Given the description of an element on the screen output the (x, y) to click on. 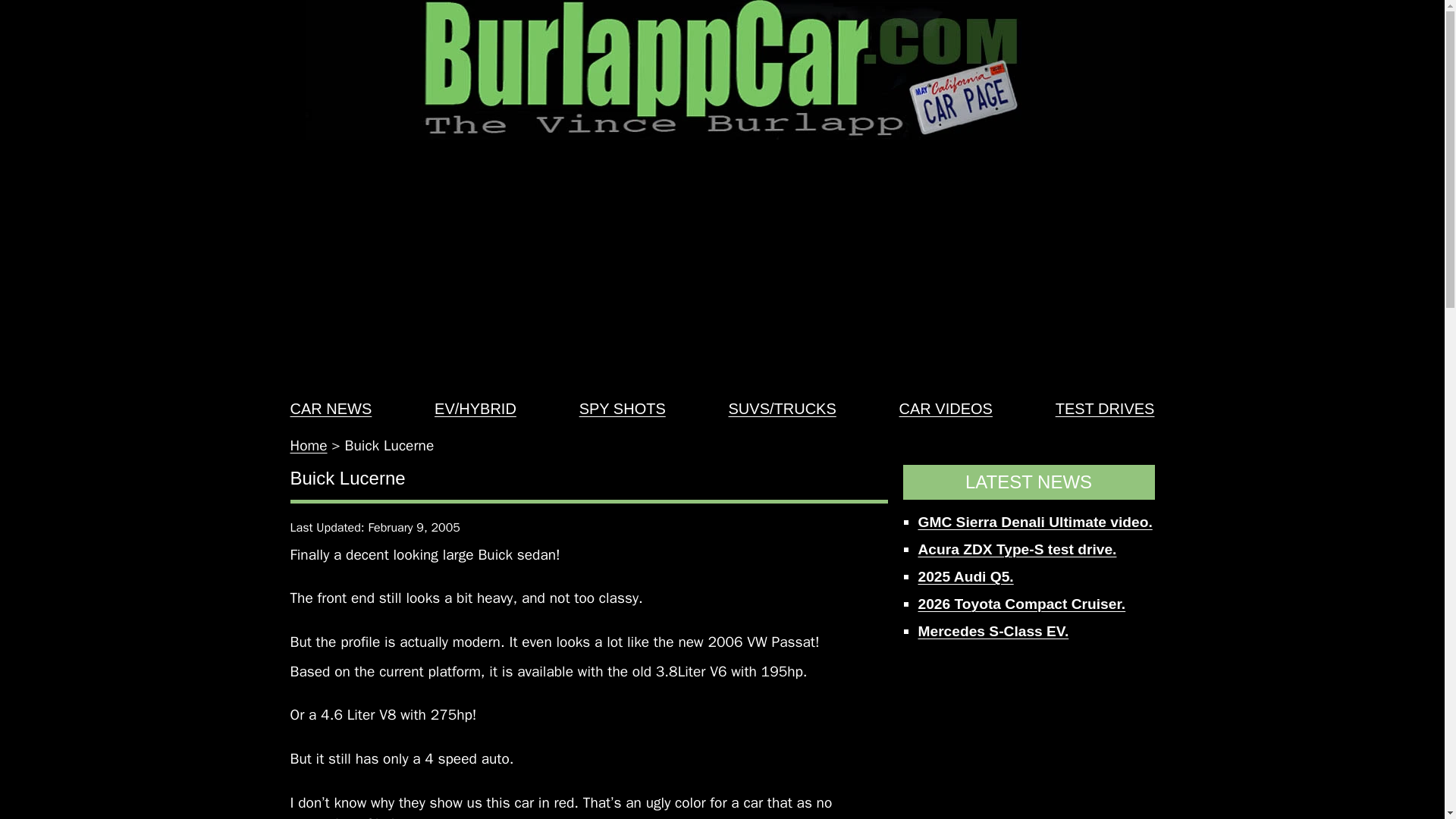
2025 Audi Q5. (965, 576)
Mercedes S-Class EV. (992, 631)
2026 Toyota Compact Cruiser. (1021, 603)
Acura ZDX Type-S test drive. (1016, 549)
Mercedes S-Class EV. (992, 631)
GMC Sierra Denali Ultimate video. (1034, 521)
GMC Sierra Denali Ultimate video. (1034, 521)
SPY SHOTS (622, 408)
CAR VIDEOS (945, 408)
Home (307, 445)
